Given the description of an element on the screen output the (x, y) to click on. 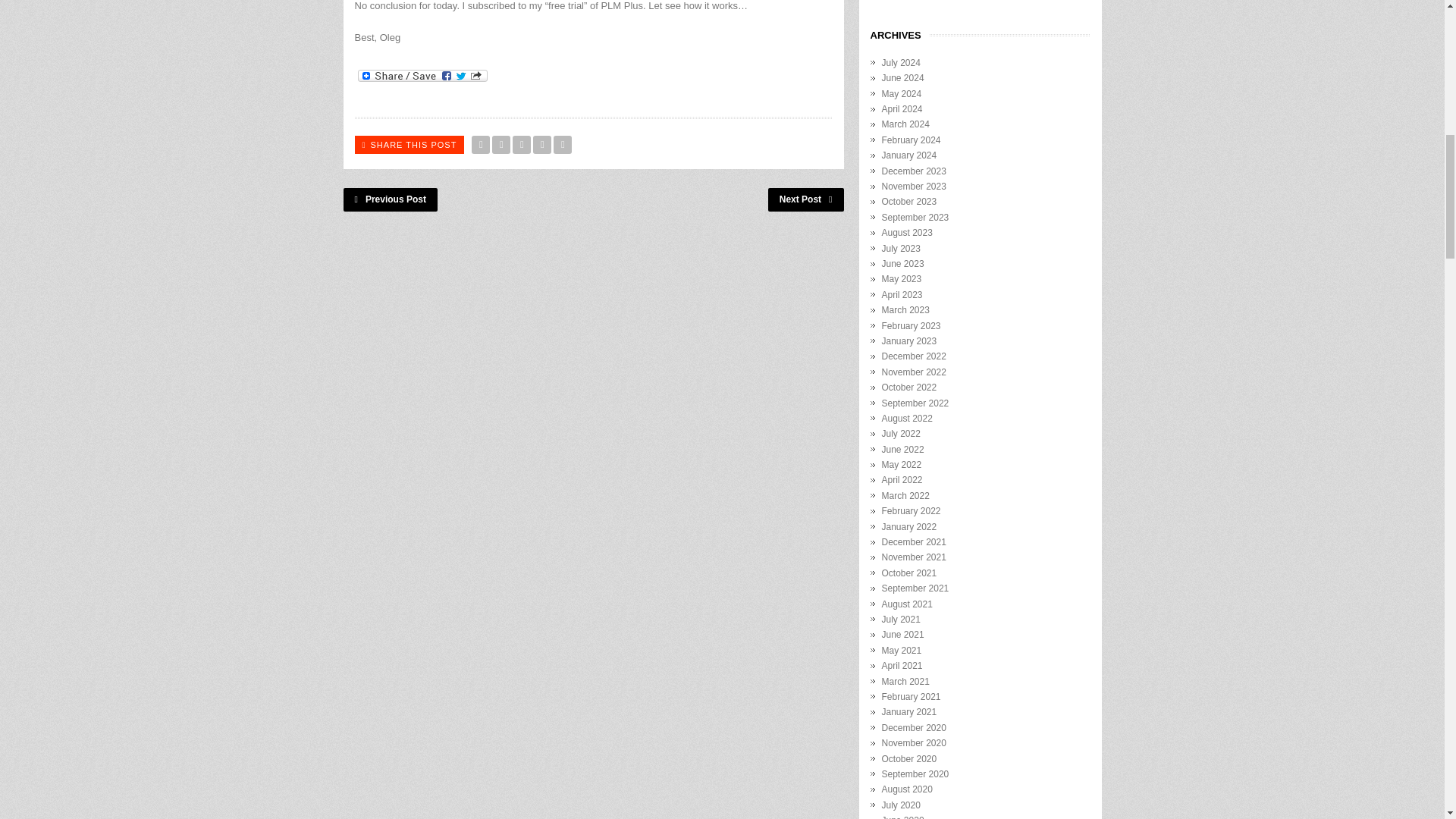
Share on Pinterest (541, 144)
Share on LinkedIn (562, 144)
Previous Post (389, 199)
Share on Facebook (501, 144)
Next Post (806, 199)
Share on Twitter (480, 144)
